Given the description of an element on the screen output the (x, y) to click on. 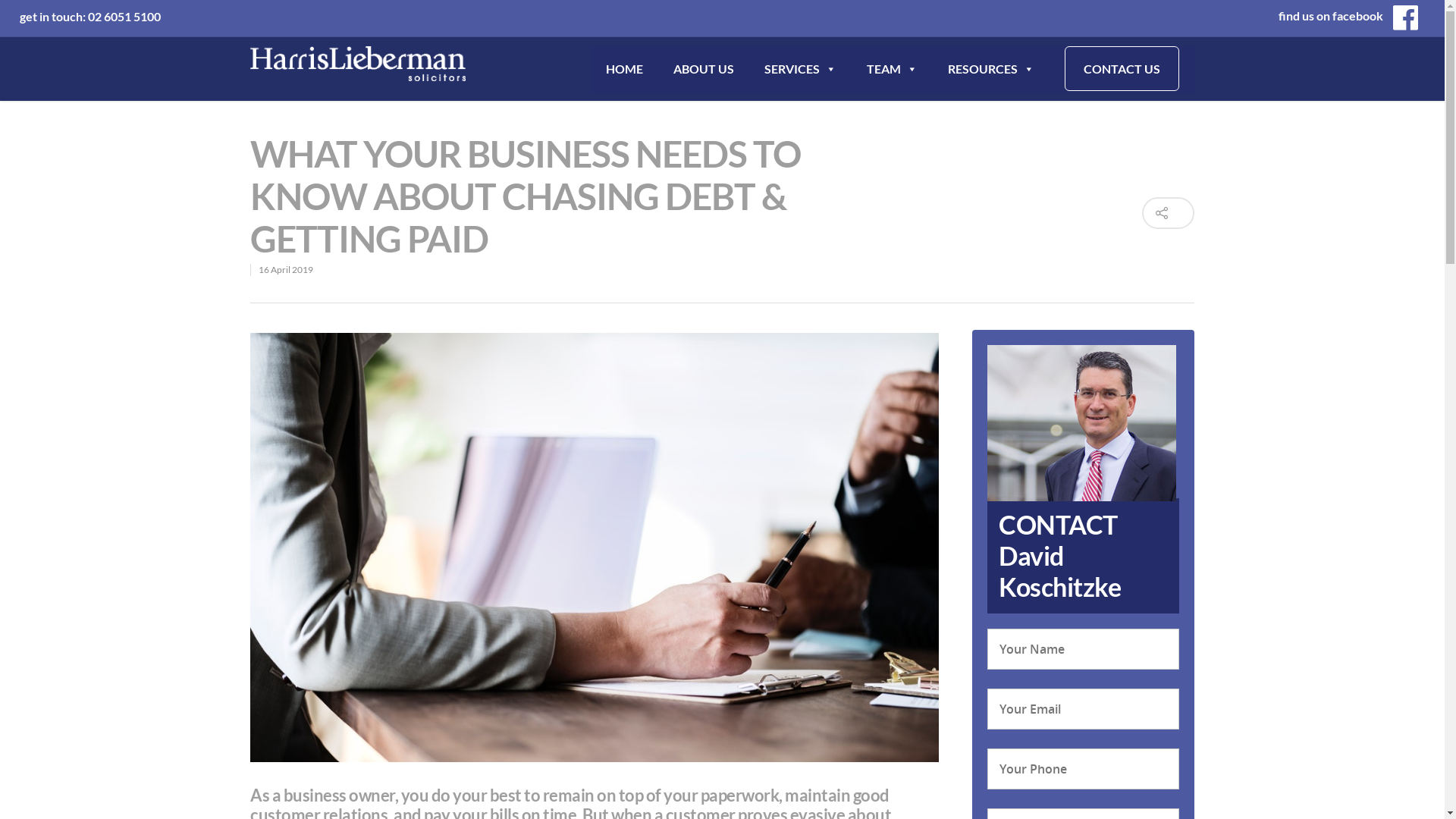
find us on facebook Element type: text (1343, 17)
HOME Element type: text (624, 69)
TEAM Element type: text (891, 69)
get in touch: 02 6051 5100 Element type: text (90, 16)
ABOUT US Element type: text (703, 69)
RESOURCES Element type: text (990, 69)
CONTACT US Element type: text (1121, 69)
SERVICES Element type: text (800, 69)
